Given the description of an element on the screen output the (x, y) to click on. 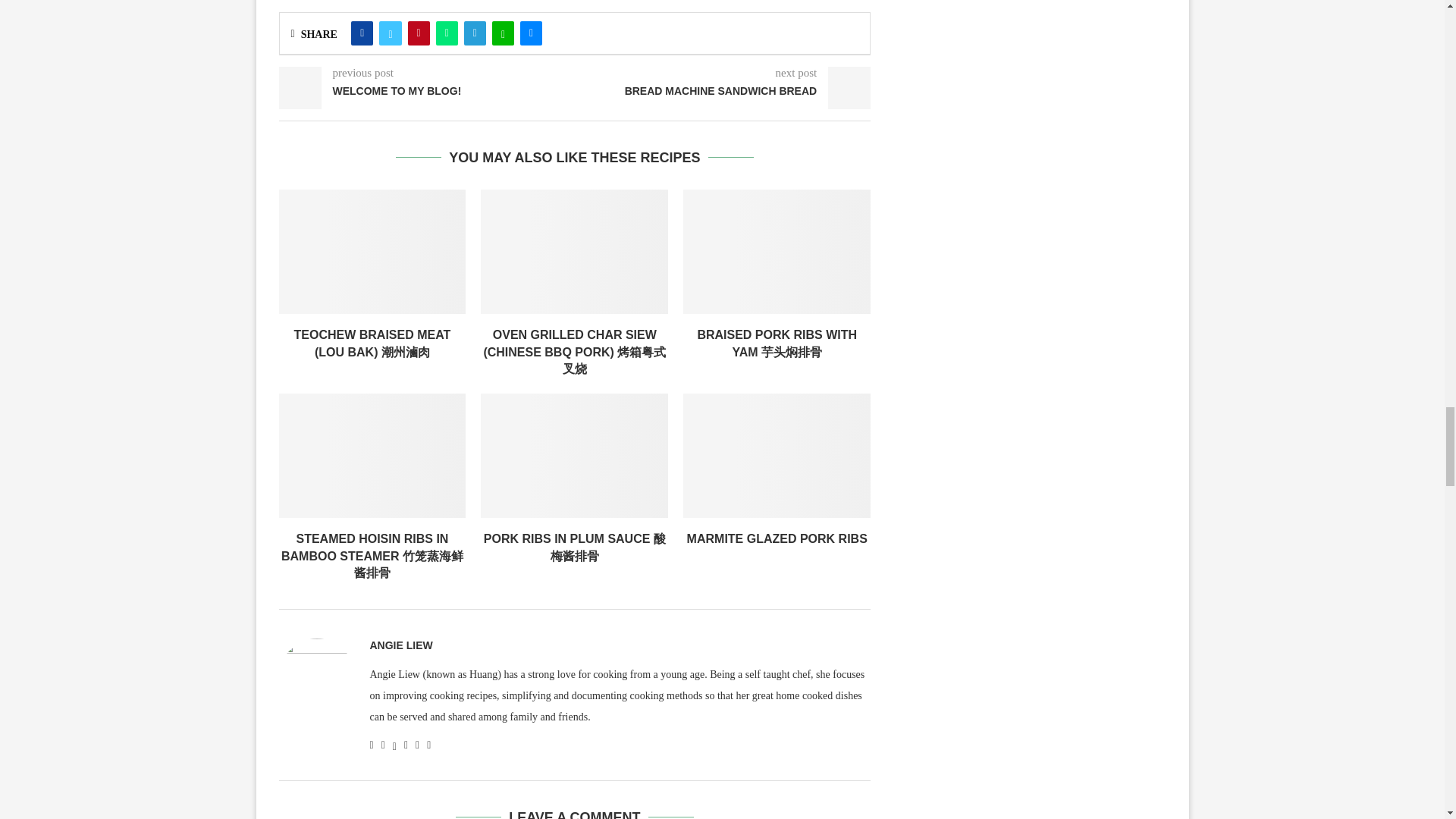
Author Angie Liew (400, 645)
Marmite Glazed Pork Ribs (776, 455)
